Given the description of an element on the screen output the (x, y) to click on. 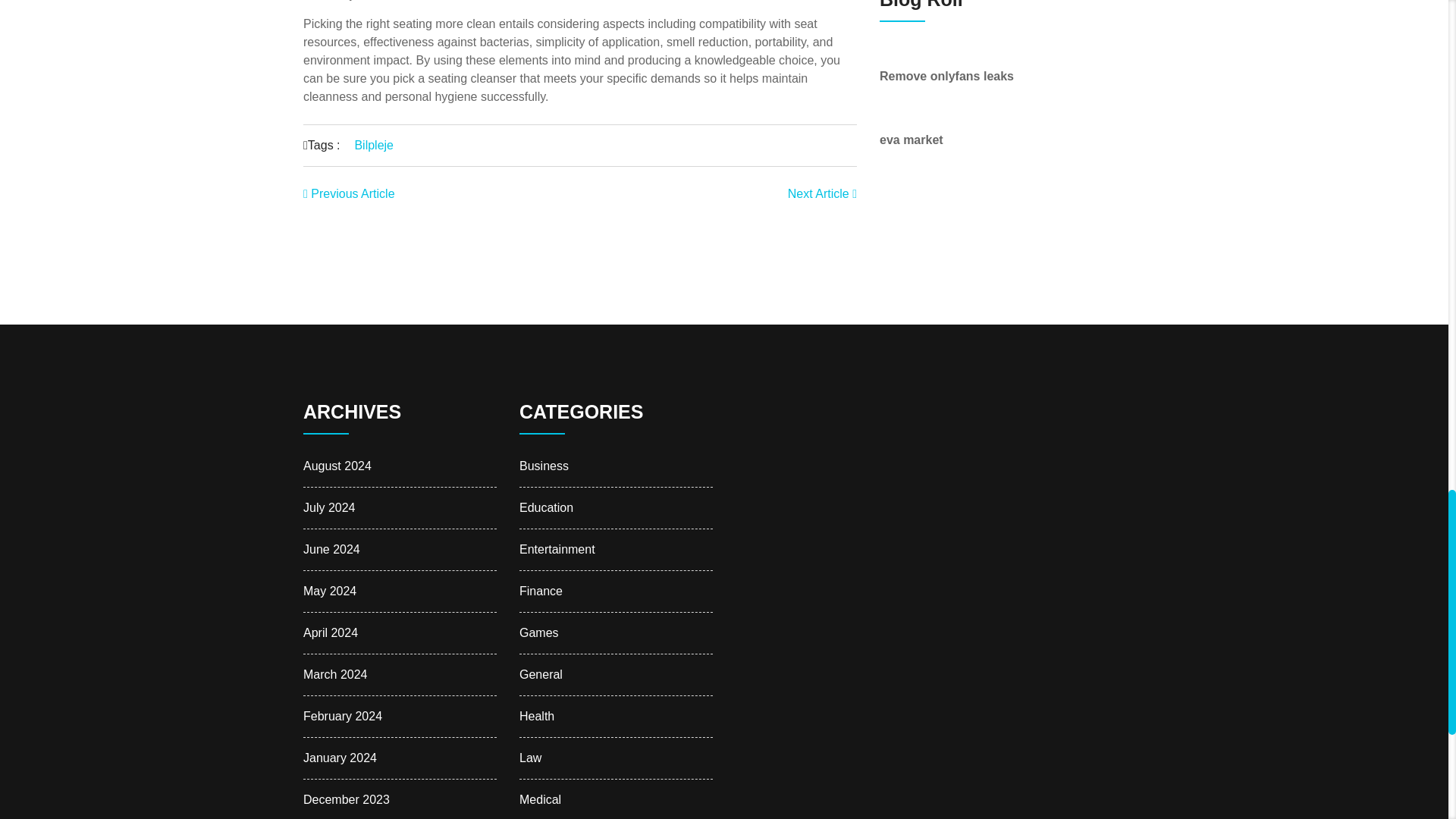
June 2024 (330, 549)
eva market (911, 139)
Remove onlyfans leaks (946, 75)
August 2024 (336, 465)
Bilpleje (373, 144)
Previous Article (348, 193)
Next Article (822, 193)
July 2024 (328, 507)
